Given the description of an element on the screen output the (x, y) to click on. 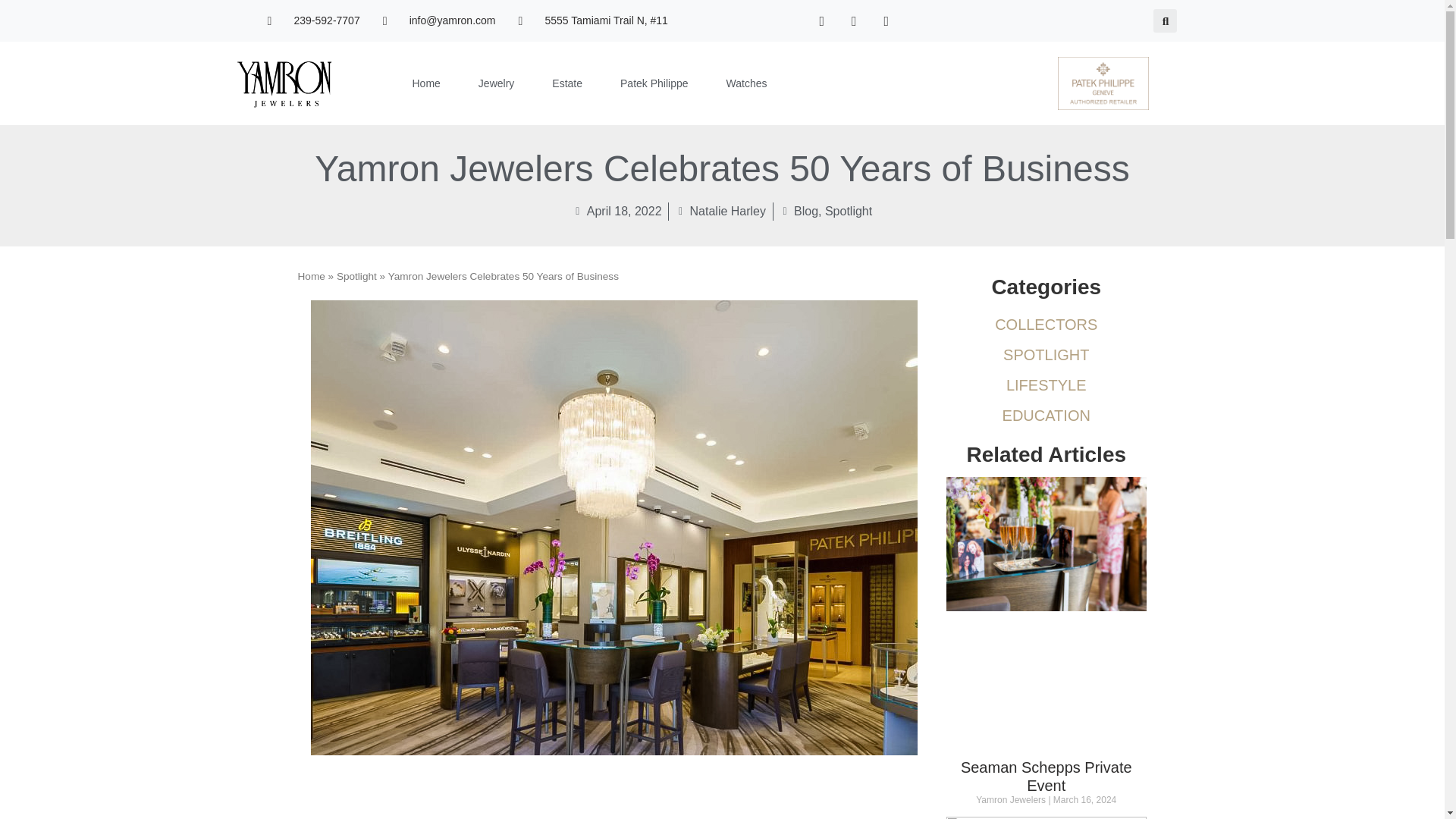
239-592-7707 (312, 20)
